Given the description of an element on the screen output the (x, y) to click on. 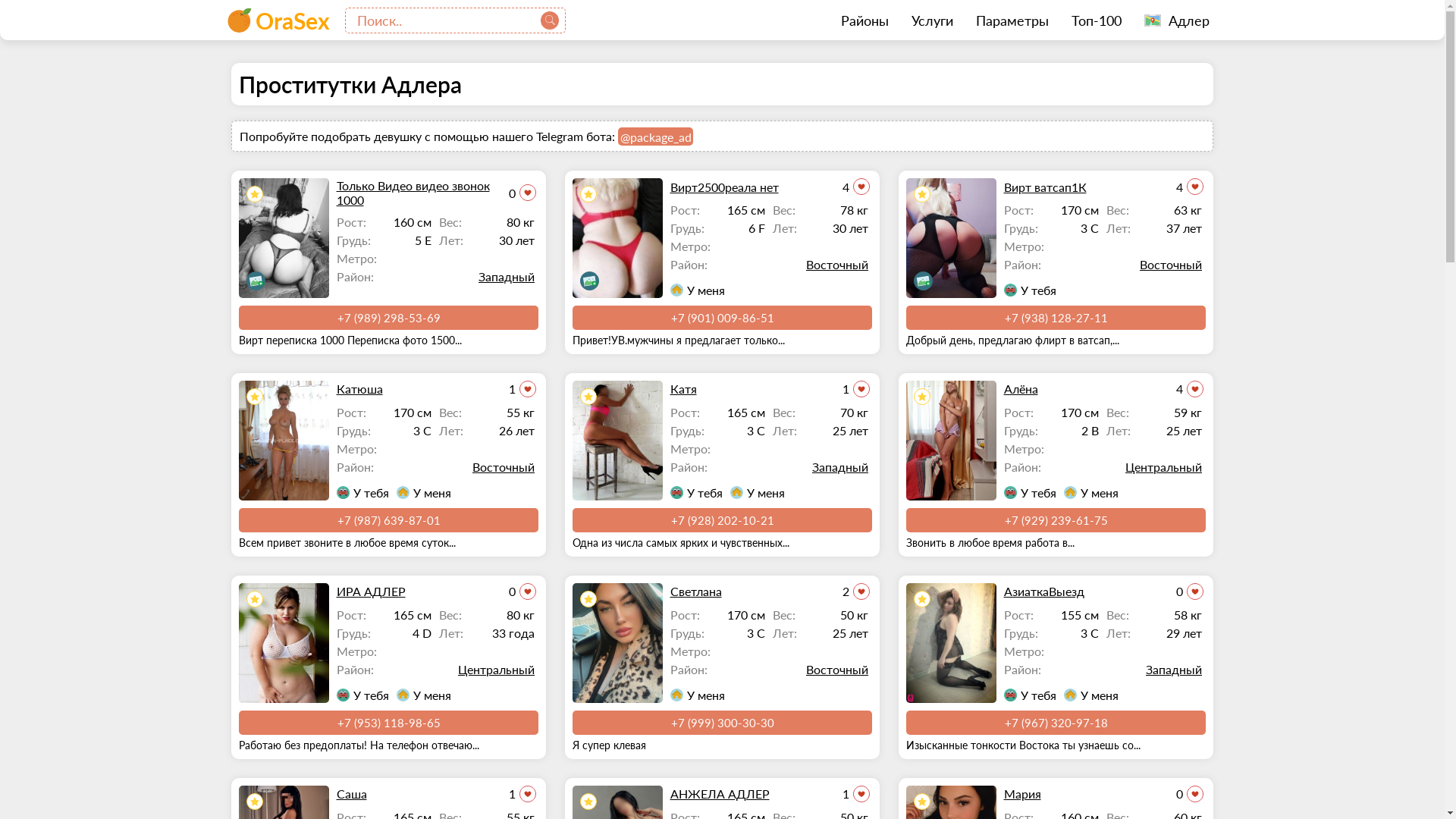
1 Element type: text (855, 793)
0 Element type: text (1188, 591)
0 Element type: text (521, 591)
+7 (987) 639-87-01 Element type: text (388, 520)
4 Element type: text (1188, 388)
4 Element type: text (1188, 186)
+7 (967) 320-97-18 Element type: text (1055, 722)
1 Element type: text (855, 388)
@package_ad Element type: text (655, 136)
+7 (901) 009-86-51 Element type: text (722, 317)
+7 (989) 298-53-69 Element type: text (388, 317)
2 Element type: text (855, 591)
+7 (953) 118-98-65 Element type: text (388, 722)
1 Element type: text (521, 388)
+7 (938) 128-27-11 Element type: text (1055, 317)
+7 (999) 300-30-30 Element type: text (722, 722)
0 Element type: text (1188, 793)
+7 (928) 202-10-21 Element type: text (722, 520)
0 Element type: text (521, 192)
4 Element type: text (855, 186)
+7 (929) 239-61-75 Element type: text (1055, 520)
1 Element type: text (521, 793)
